Given the description of an element on the screen output the (x, y) to click on. 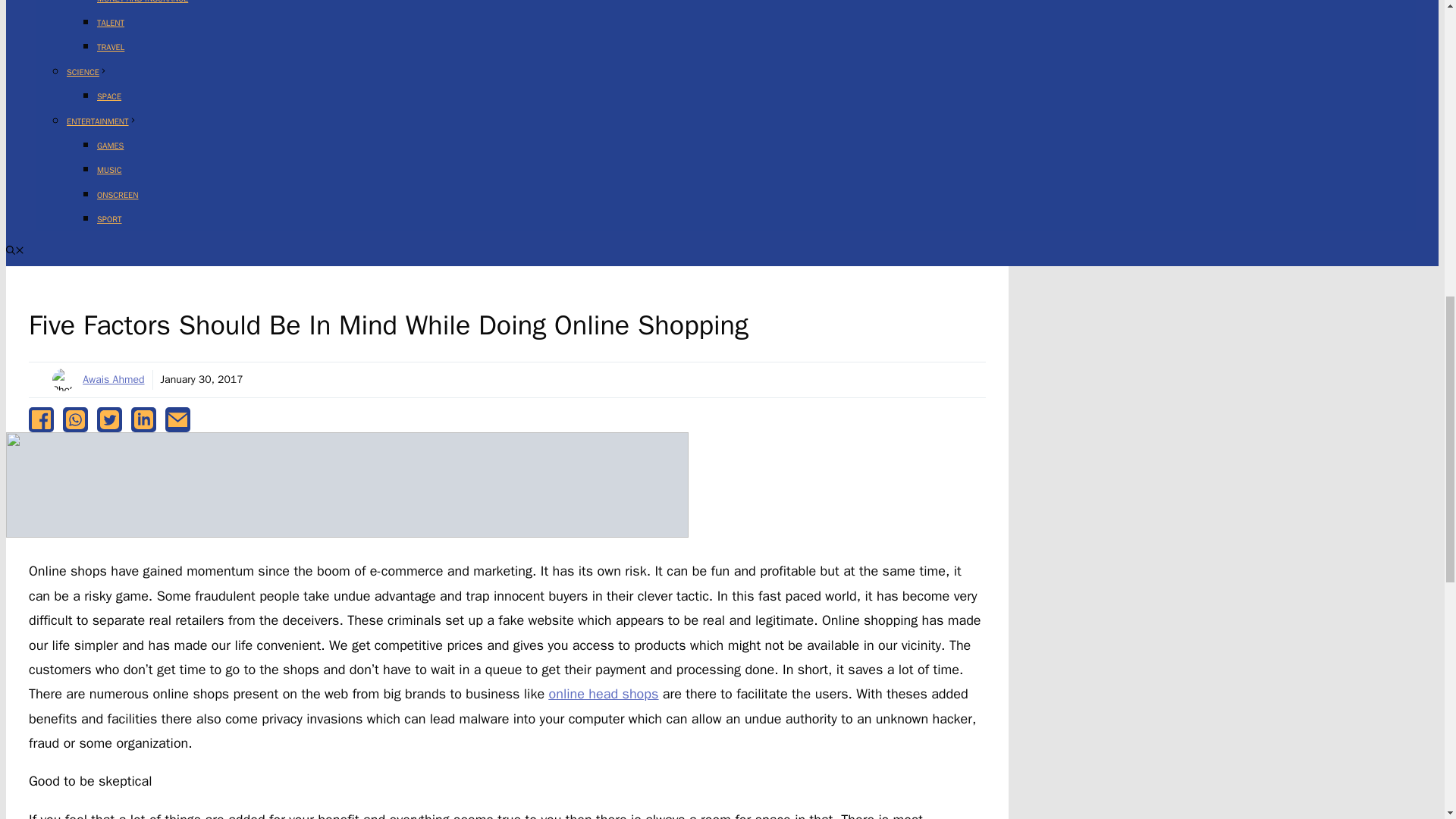
TRAVEL (110, 46)
ENTERTAINMENT (101, 121)
TALENT (110, 22)
GAMES (110, 145)
SCIENCE (86, 71)
MUSIC (109, 169)
MONEY AND INSURANCE (142, 2)
SPACE (108, 95)
